Given the description of an element on the screen output the (x, y) to click on. 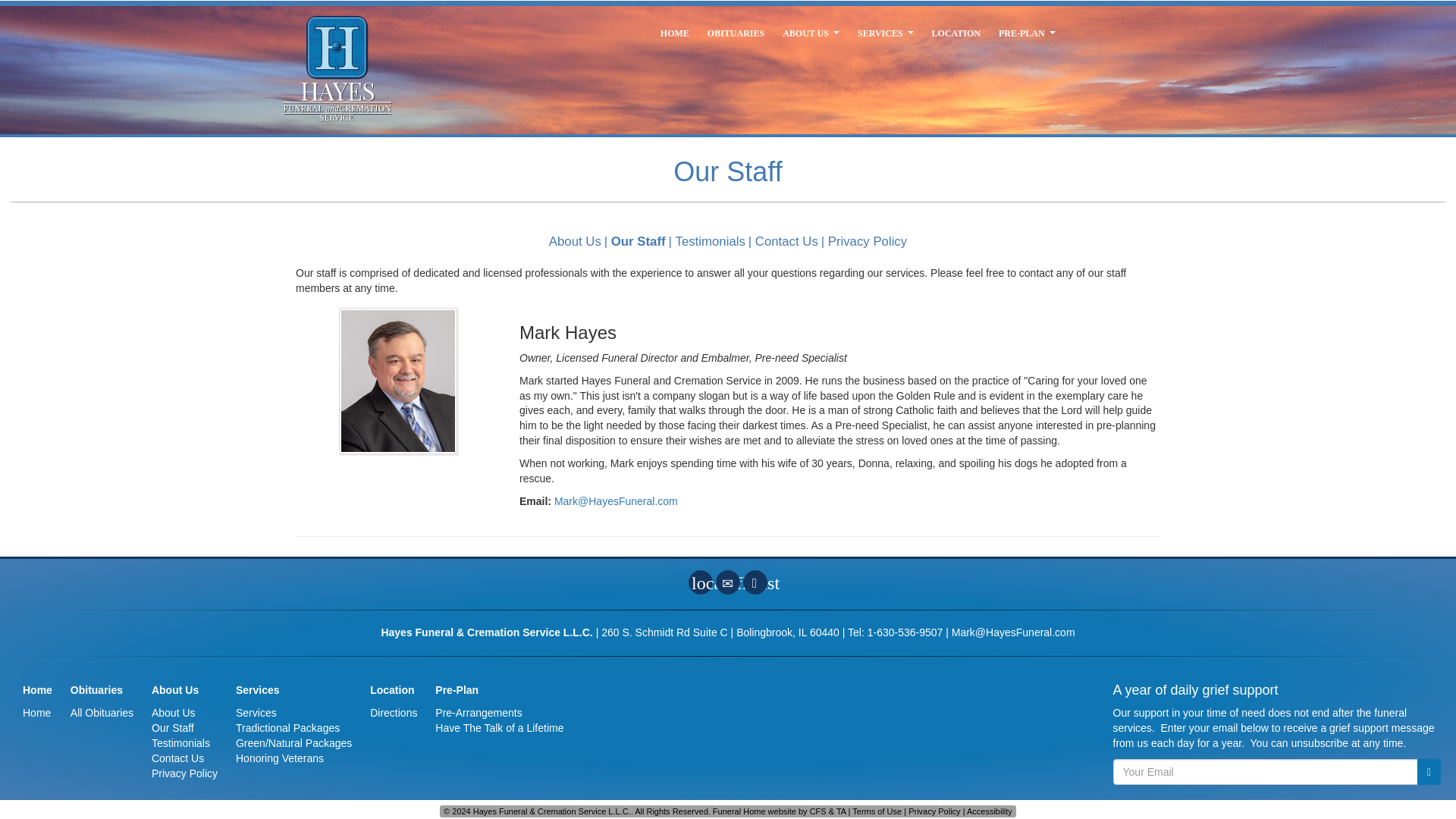
Our Staff (638, 241)
Privacy Policy (183, 773)
1-630-536-9507 (905, 632)
All Obituaries (101, 712)
Send Flowers (700, 582)
PRE-PLAN... (1027, 33)
Testimonials (180, 743)
SERVICES... (885, 33)
Contact Us (727, 582)
Home (36, 712)
